Given the description of an element on the screen output the (x, y) to click on. 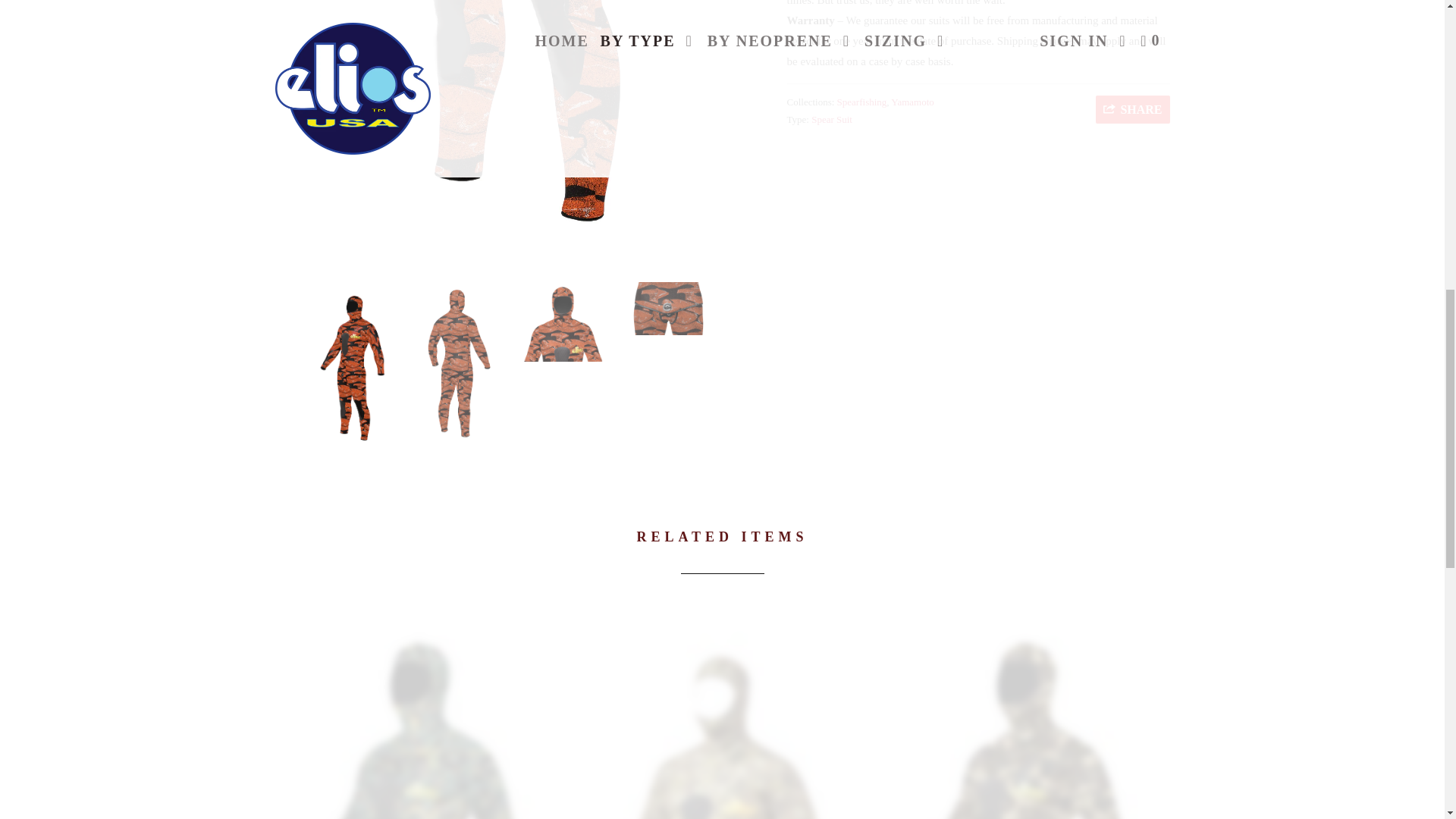
Spear Suit (830, 119)
Spearfishing (861, 101)
Yamamoto (912, 101)
